Given the description of an element on the screen output the (x, y) to click on. 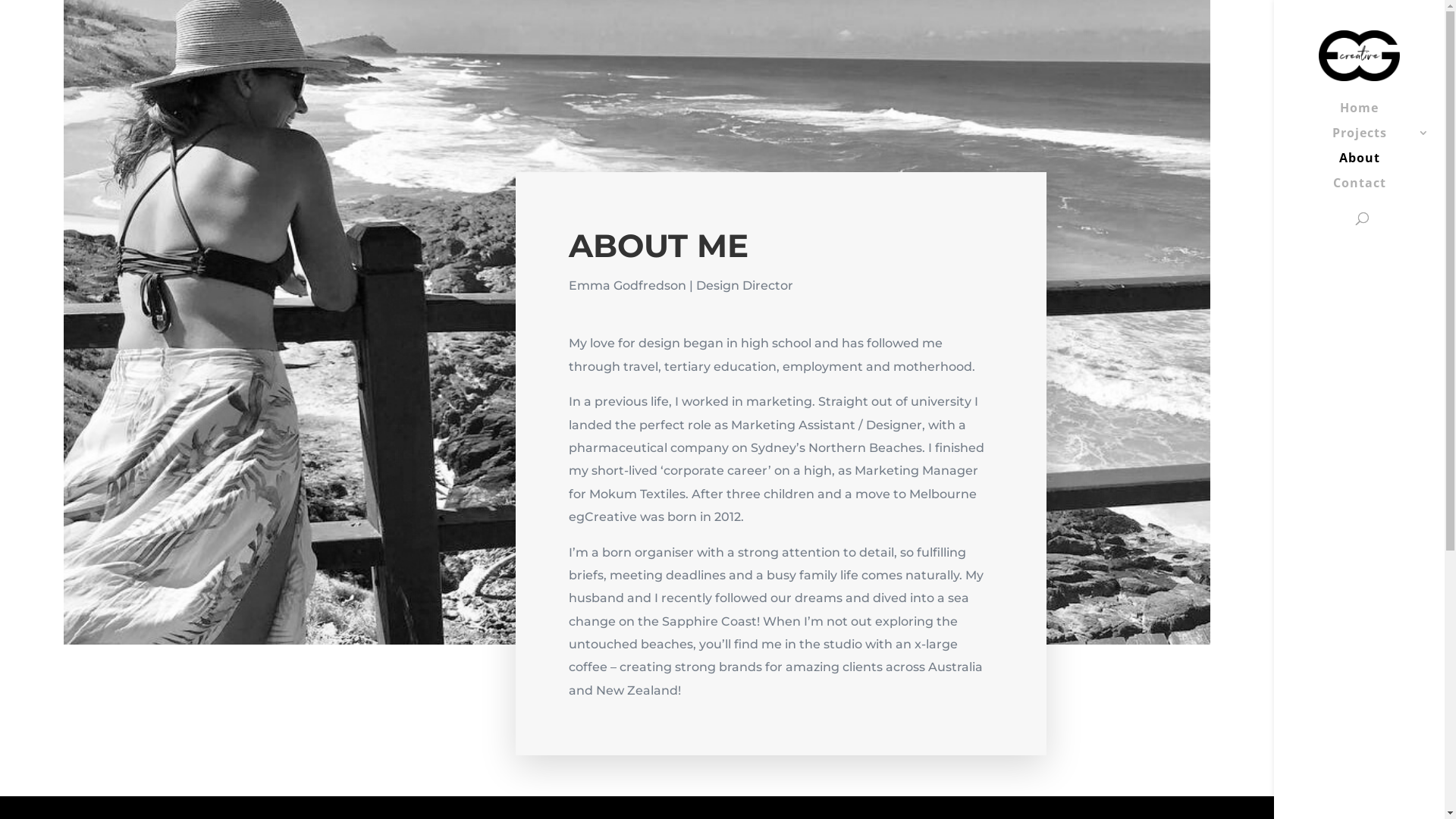
Projects Element type: text (1374, 139)
About Element type: text (1374, 164)
Home Element type: text (1374, 114)
Contact Element type: text (1374, 189)
